Given the description of an element on the screen output the (x, y) to click on. 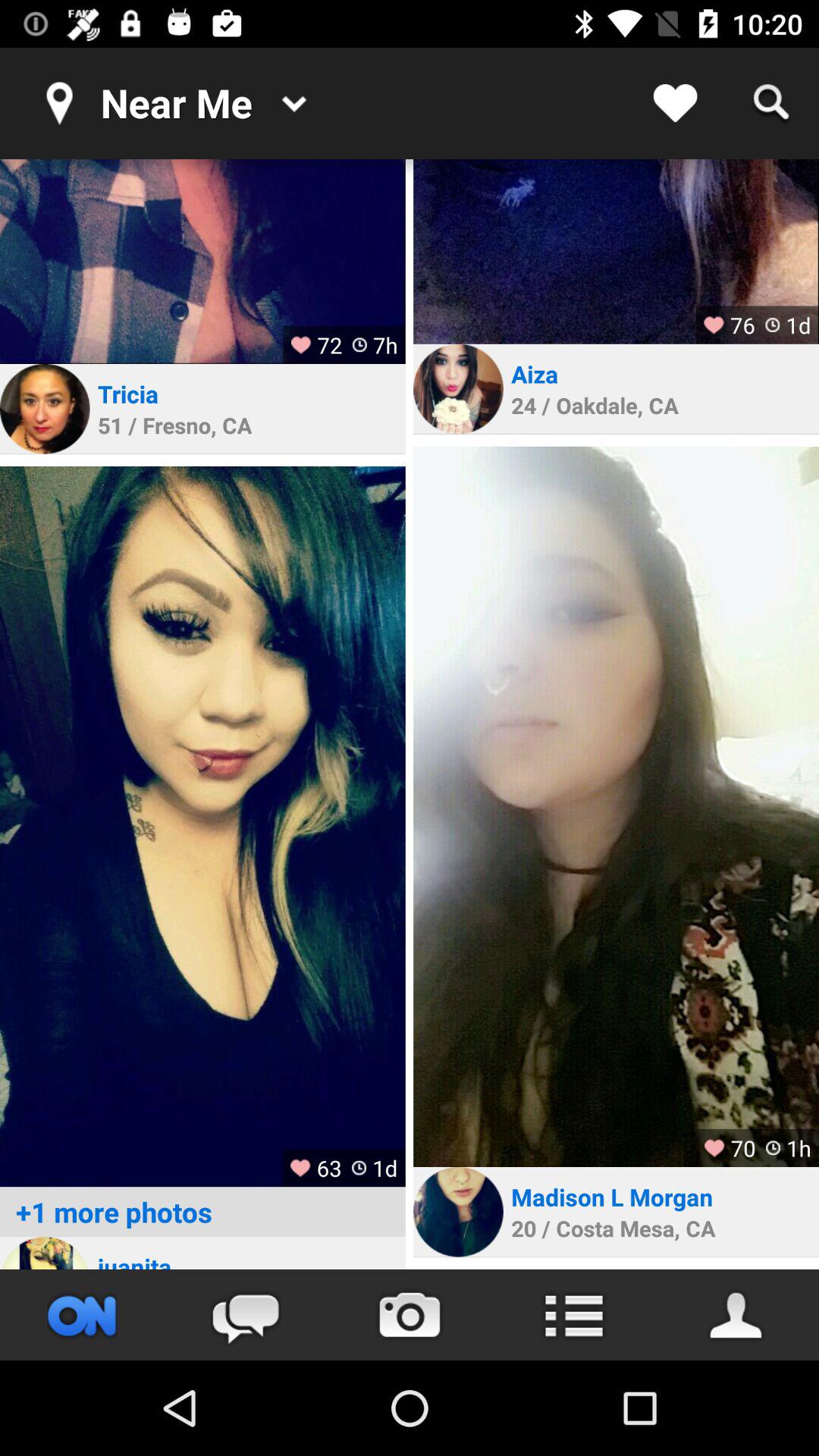
click to reveal more functions (573, 1315)
